Given the description of an element on the screen output the (x, y) to click on. 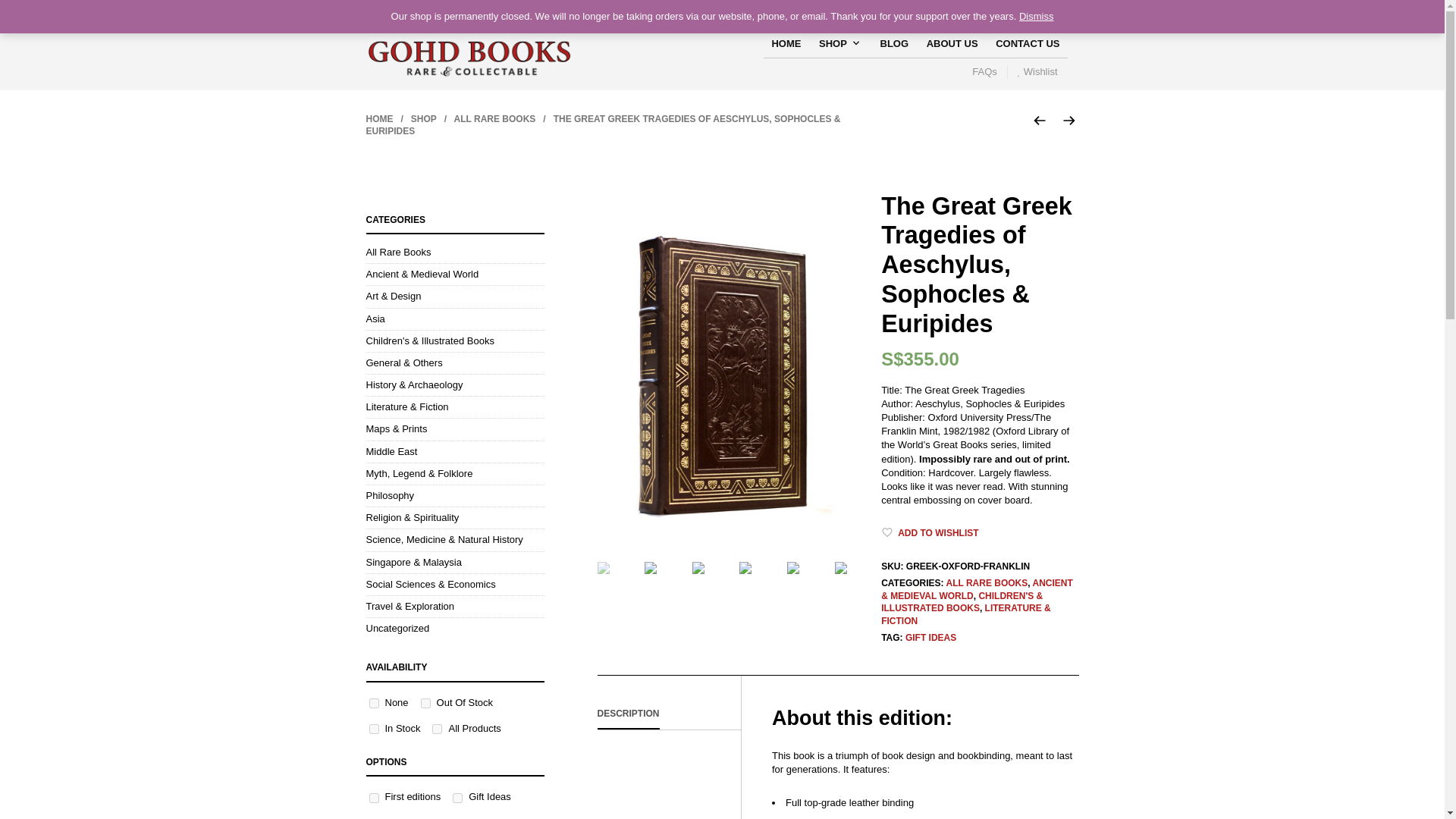
SHOP (423, 118)
gift-ideas (457, 798)
MY ACCOUNT (888, 11)
HOME (785, 43)
First editionsGift IdeasPublished before 1800 (454, 801)
greek-oxford-franklin1 (721, 373)
CONTACT US (454, 716)
ABOUT US (1027, 43)
both (951, 43)
BLOG (437, 728)
out (894, 43)
FAQs (425, 703)
in (989, 71)
